Given the description of an element on the screen output the (x, y) to click on. 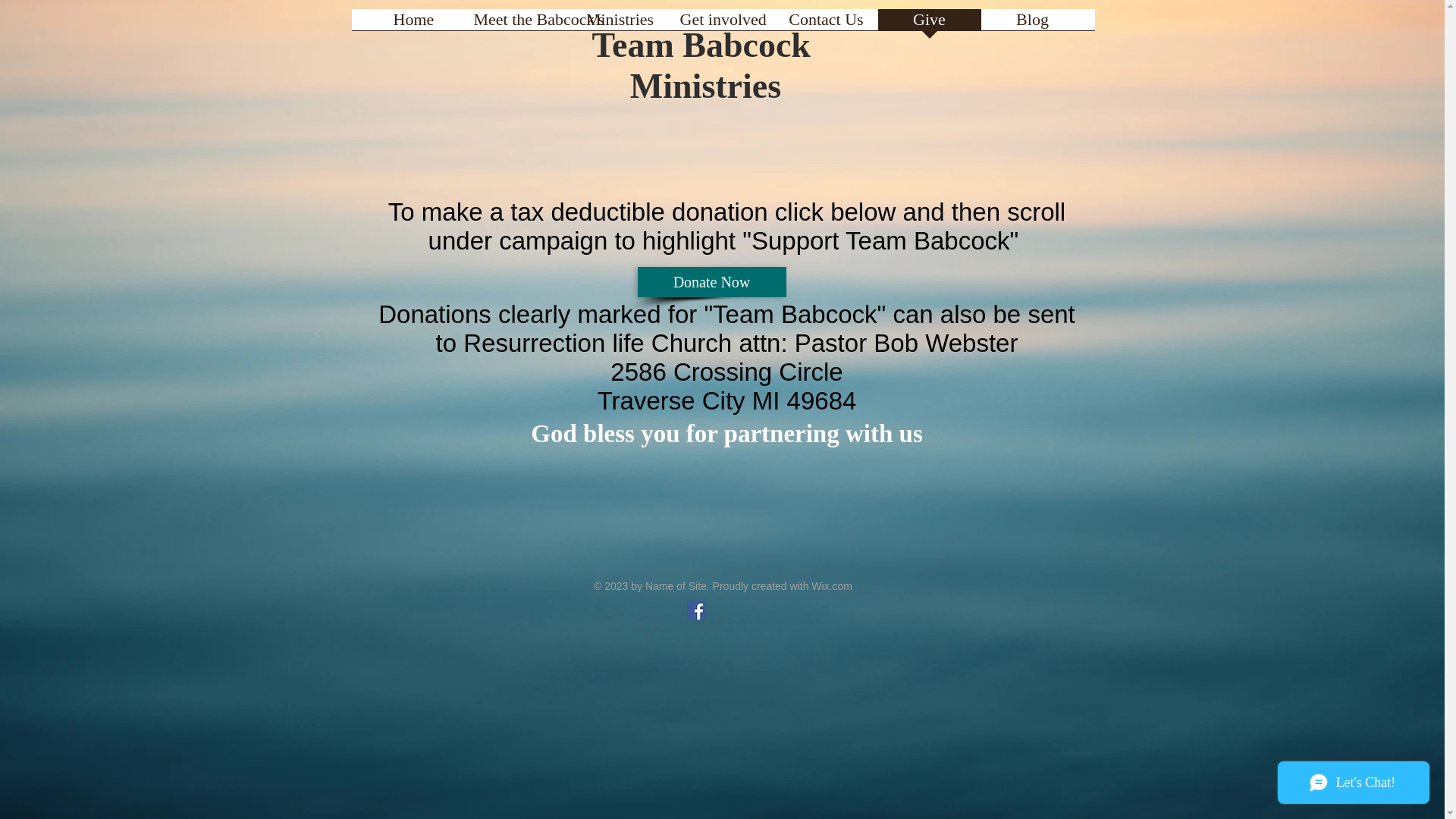
Get involved (722, 24)
Home (413, 24)
Donate Now (711, 281)
Wix.com (830, 585)
Ministries (620, 24)
Blog (1032, 24)
Ministries (705, 85)
Contact Us (825, 24)
Meet the Babcock's (517, 24)
Give (929, 24)
